Given the description of an element on the screen output the (x, y) to click on. 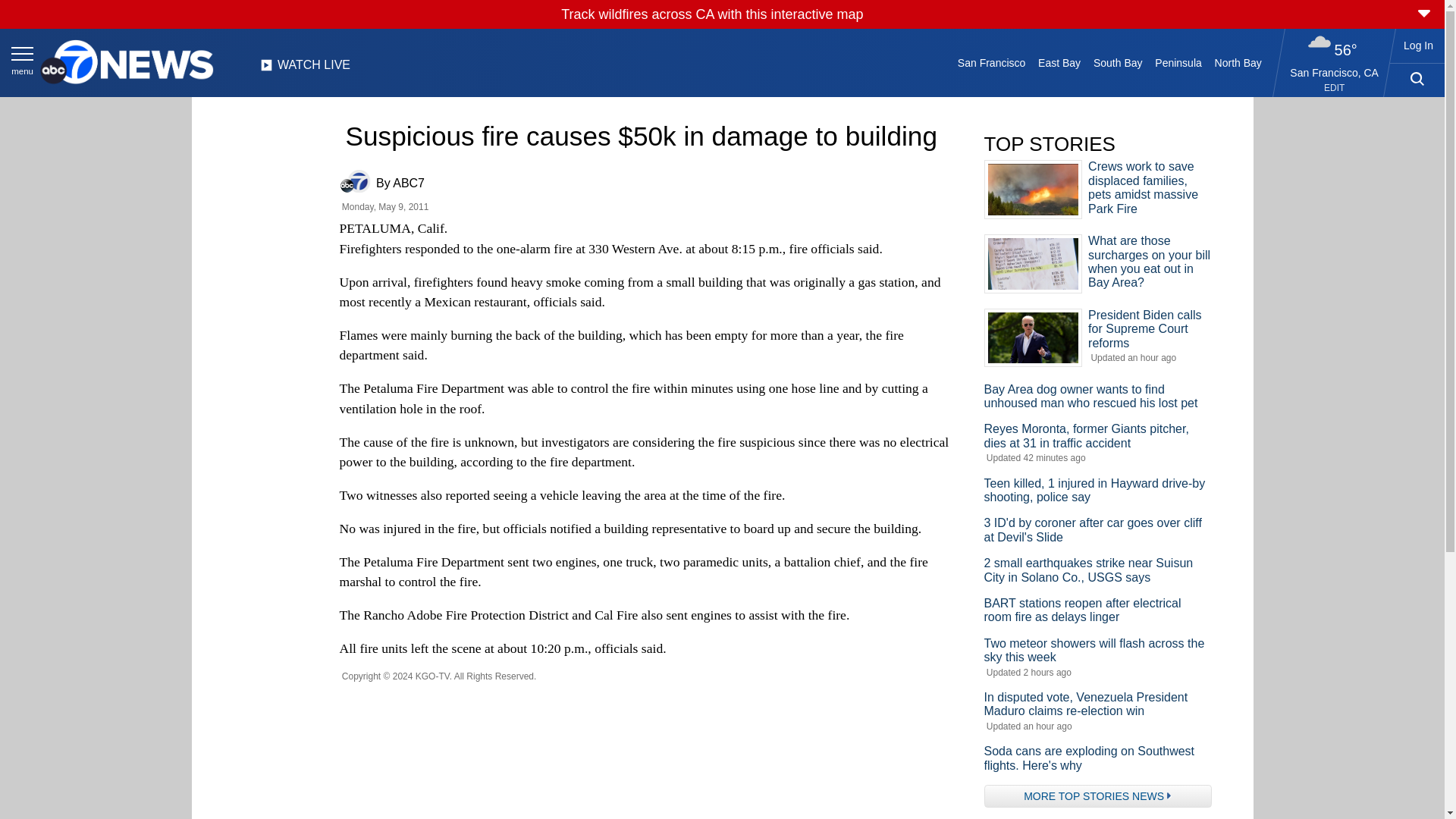
WATCH LIVE (305, 69)
Peninsula (1178, 62)
North Bay (1238, 62)
EDIT (1333, 87)
East Bay (1059, 62)
San Francisco (990, 62)
South Bay (1117, 62)
San Francisco, CA (1334, 72)
